Given the description of an element on the screen output the (x, y) to click on. 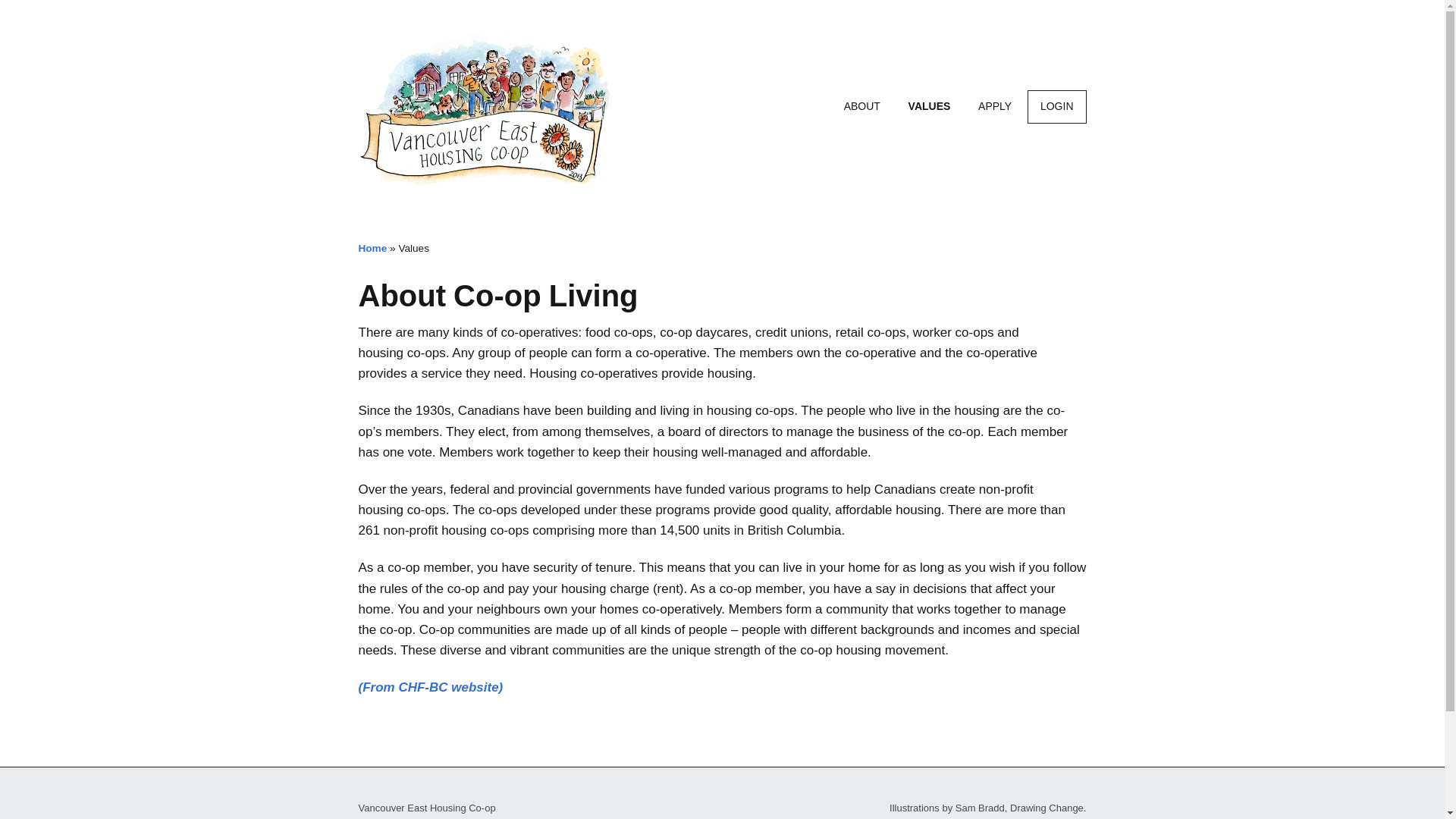
ABOUT (861, 106)
Home (372, 247)
APPLY (994, 106)
VALUES (929, 106)
LOGIN (1056, 106)
